Given the description of an element on the screen output the (x, y) to click on. 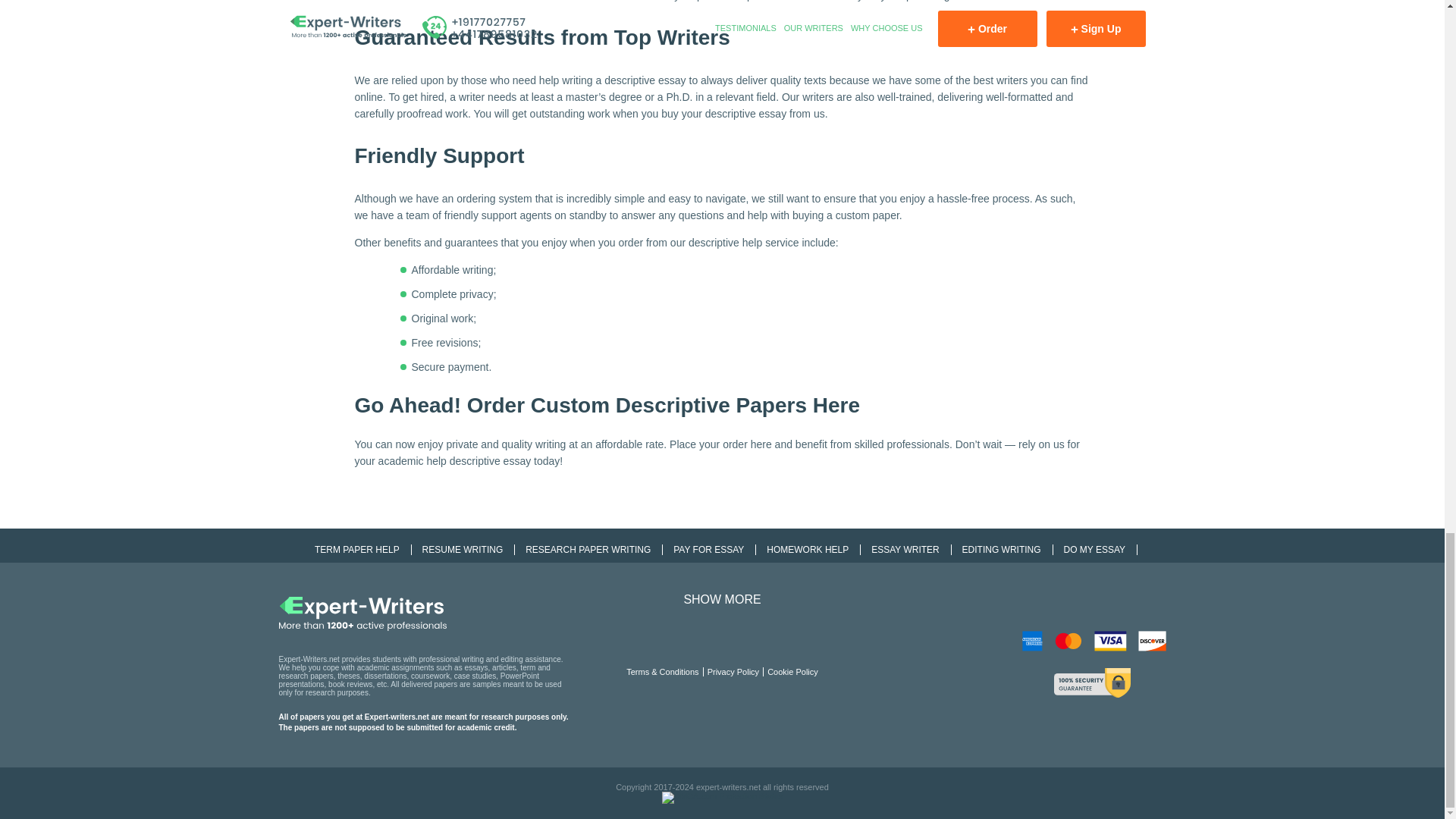
TERM PAPER HELP (359, 549)
ESSAY WRITER (907, 549)
RESUME WRITING (464, 549)
RESEARCH PAPER WRITING (590, 549)
PAY FOR ESSAY (710, 549)
DO MY ESSAY (1096, 549)
HOMEWORK HELP (809, 549)
DMCA.com Protection Status (722, 795)
EDITING WRITING (1003, 549)
